Given the description of an element on the screen output the (x, y) to click on. 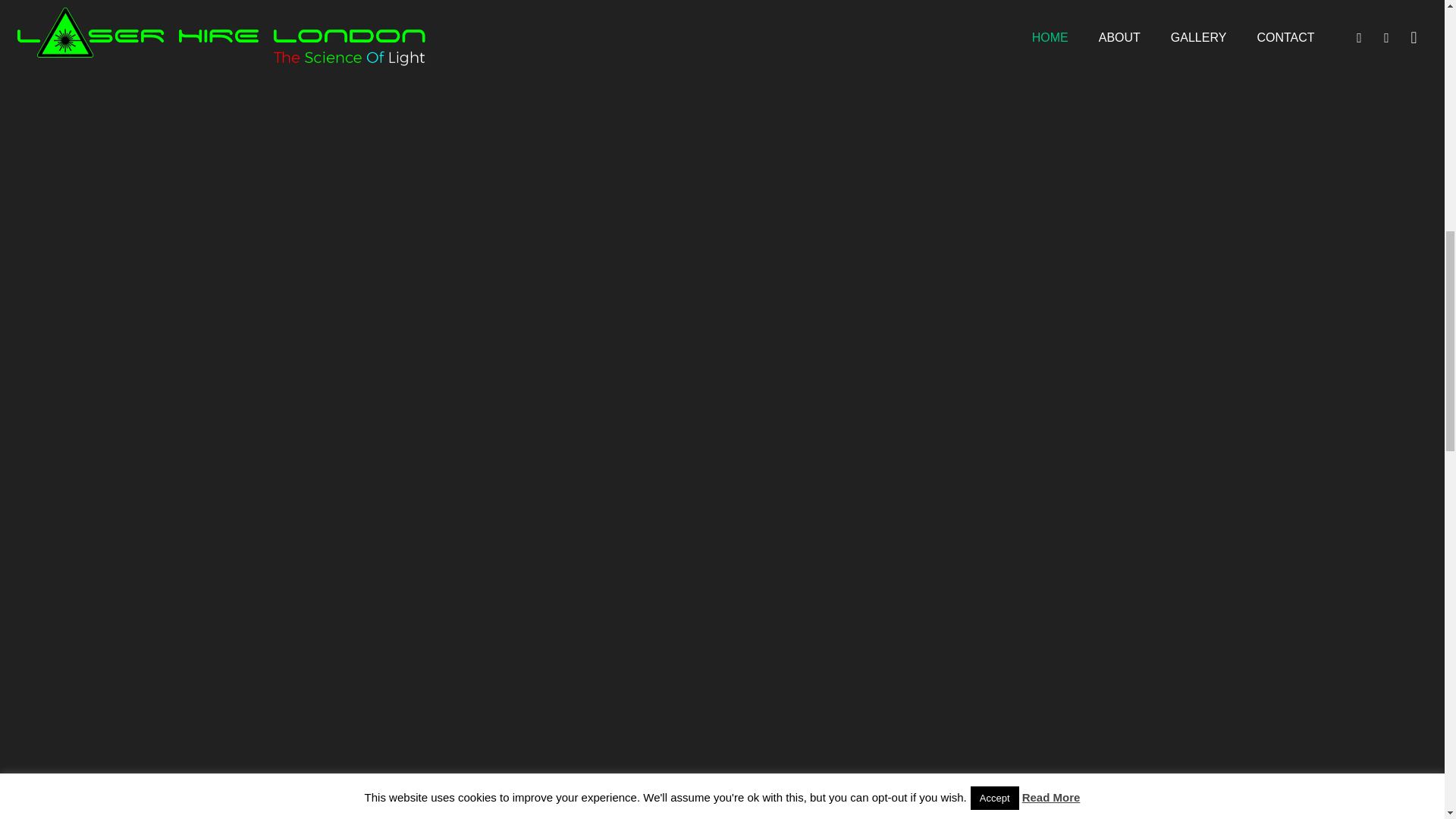
Back to top (1413, 26)
